Given the description of an element on the screen output the (x, y) to click on. 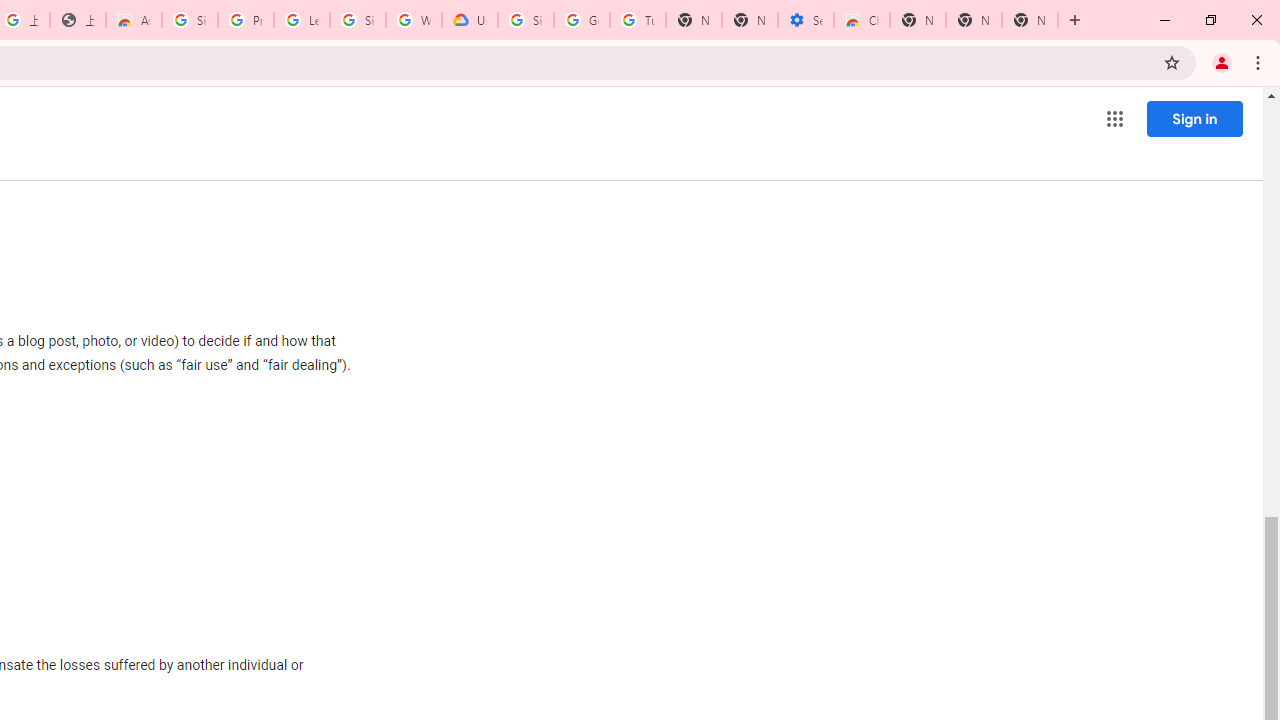
New Tab (917, 20)
Settings - Accessibility (806, 20)
Turn cookies on or off - Computer - Google Account Help (637, 20)
